Given the description of an element on the screen output the (x, y) to click on. 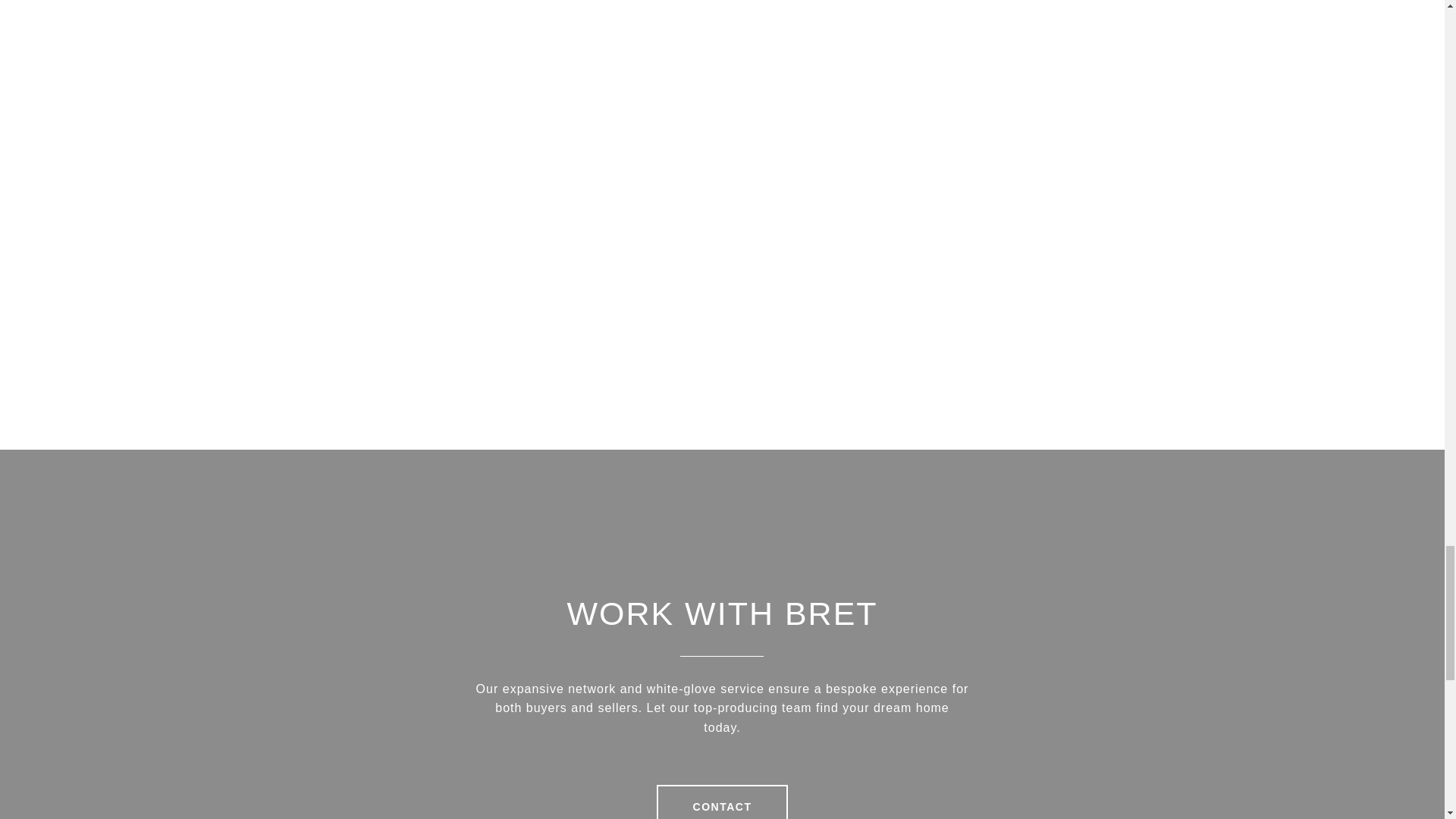
CONTACT (722, 801)
